Given the description of an element on the screen output the (x, y) to click on. 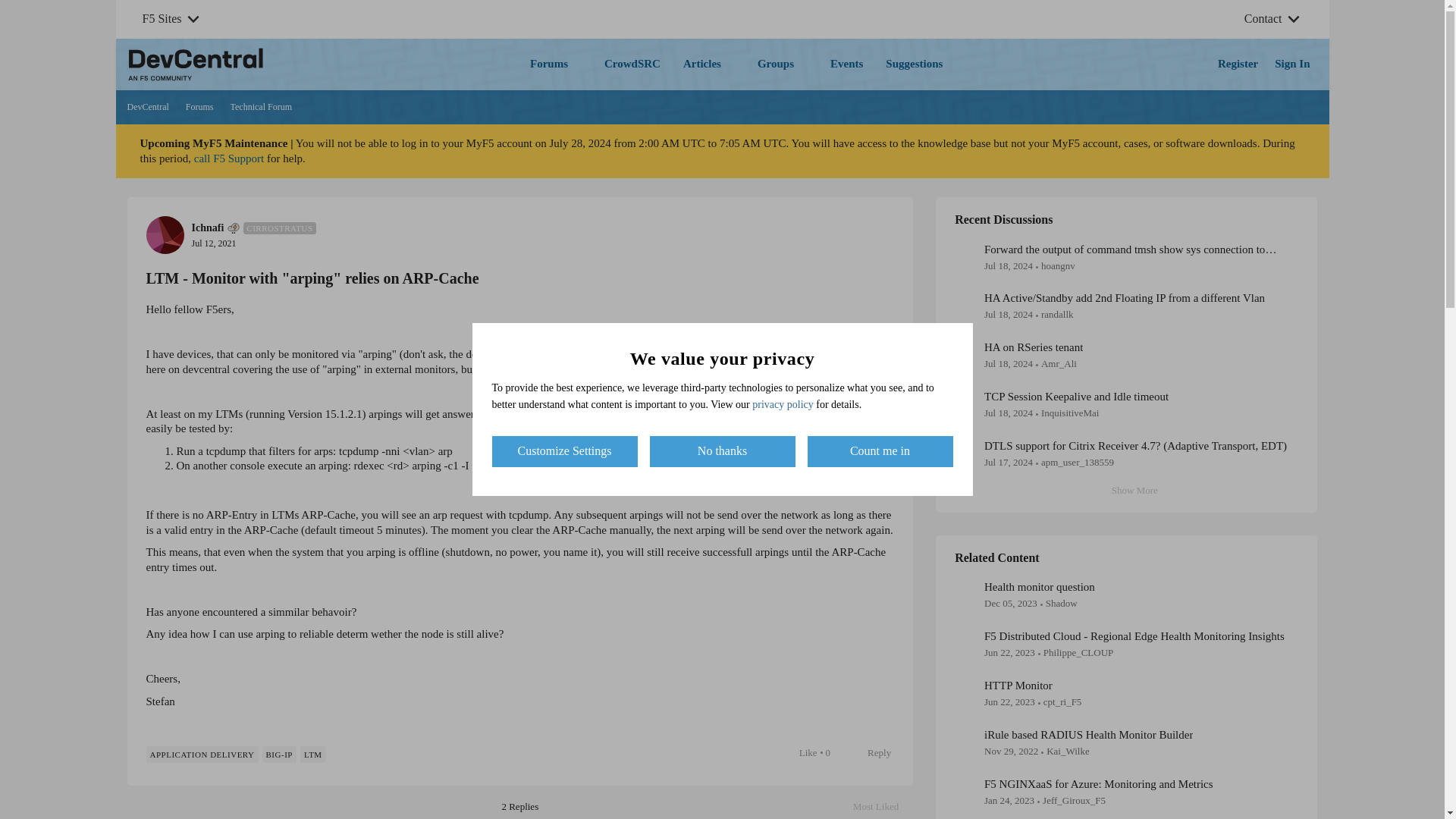
call F5 Support (228, 158)
June 21, 2023 at 5:44 PM (1009, 701)
Ichnafi (207, 228)
July 17, 2024 at 4:32 PM (1008, 412)
Groups (782, 63)
June 22, 2023 at 12:00 PM (1009, 652)
TCP Session Keepalive and Idle timeout (1076, 396)
LTM (312, 754)
Show More (1126, 490)
HA on RSeries  tenant (1033, 346)
Health monitor question (1039, 586)
Skip to content (882, 807)
BIG-IP (179, 96)
APPLICATION DELIVERY (279, 754)
